Given the description of an element on the screen output the (x, y) to click on. 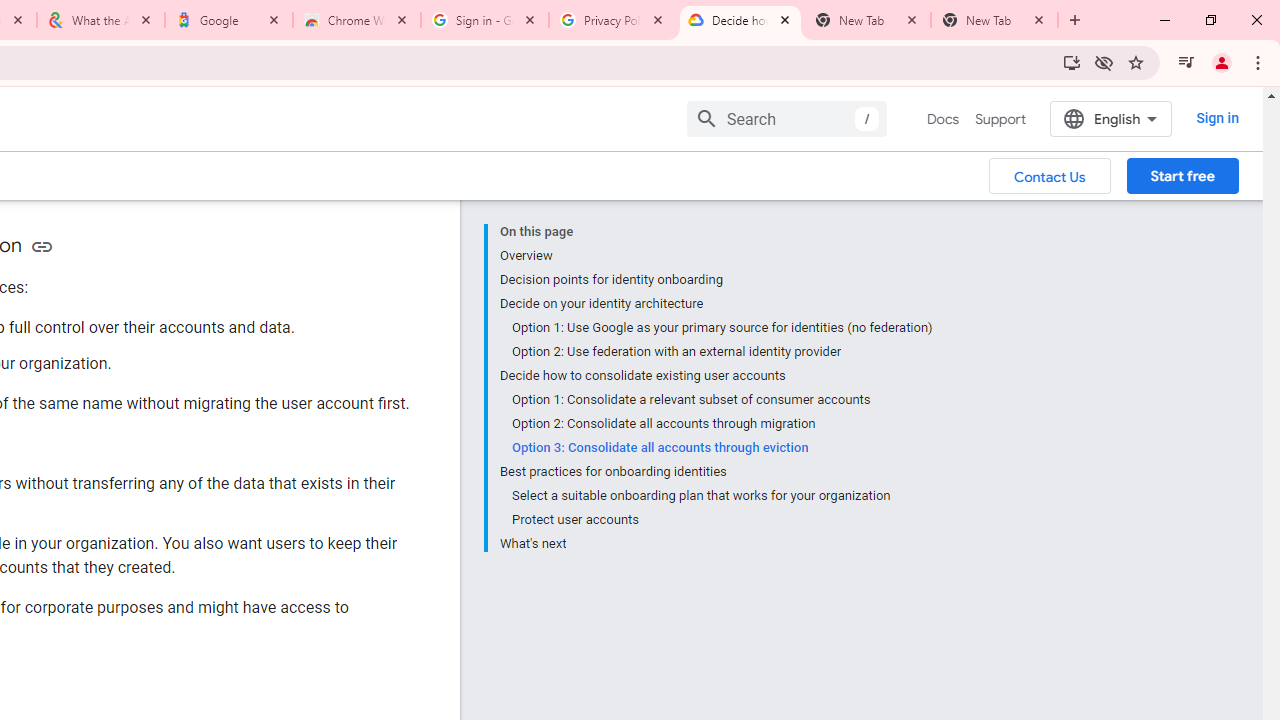
Decide on your identity architecture (716, 304)
What's next (716, 542)
Best practices for onboarding identities (716, 471)
